Given the description of an element on the screen output the (x, y) to click on. 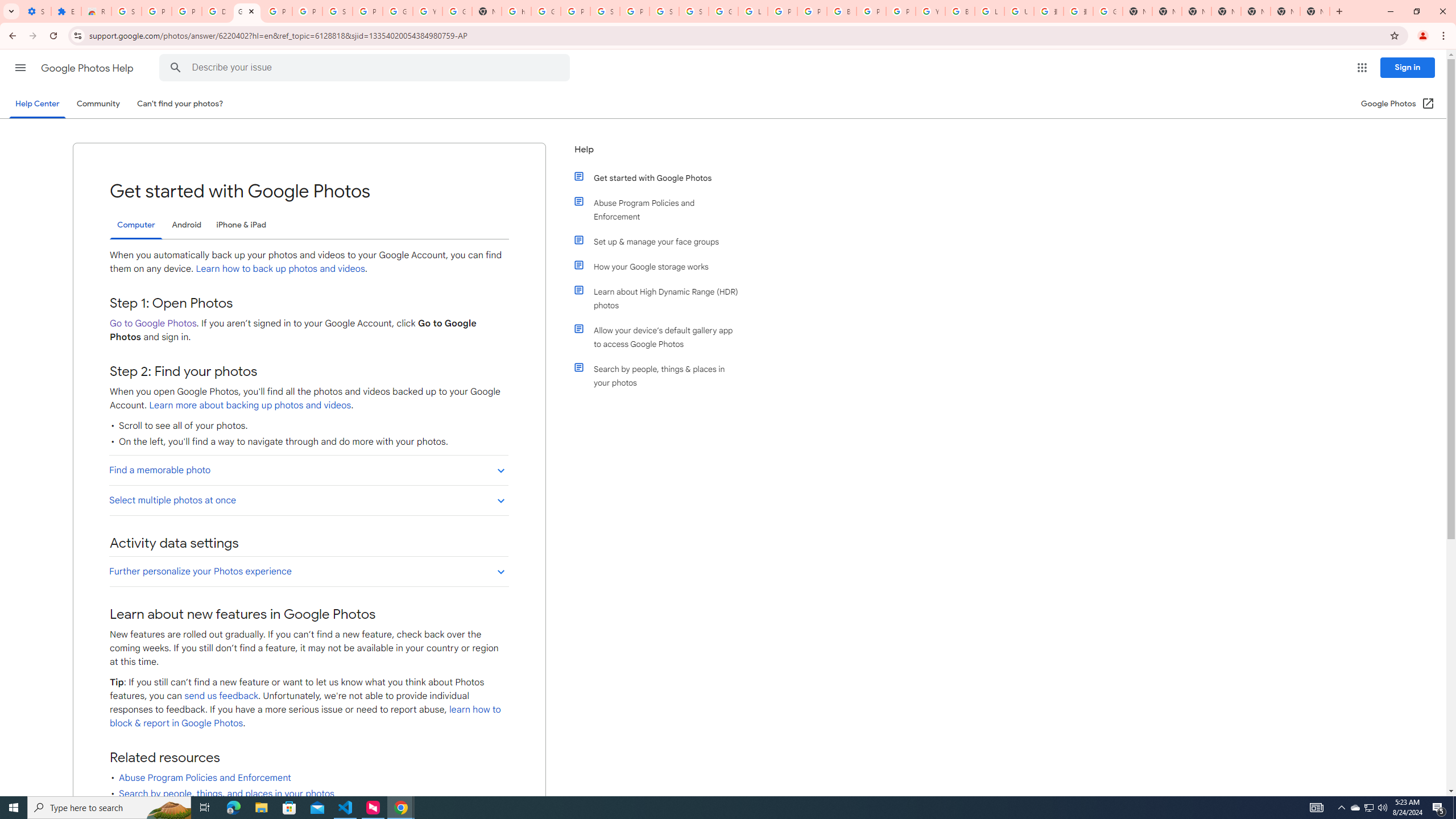
Abuse Program Policies and Enforcement (661, 209)
Reviews: Helix Fruit Jump Arcade Game (95, 11)
New Tab (1226, 11)
Main menu (20, 67)
Sign in - Google Accounts (337, 11)
Learn about High Dynamic Range (HDR) photos (661, 298)
Help Center (36, 103)
Privacy Help Center - Policies Help (782, 11)
Android (186, 224)
